Given the description of an element on the screen output the (x, y) to click on. 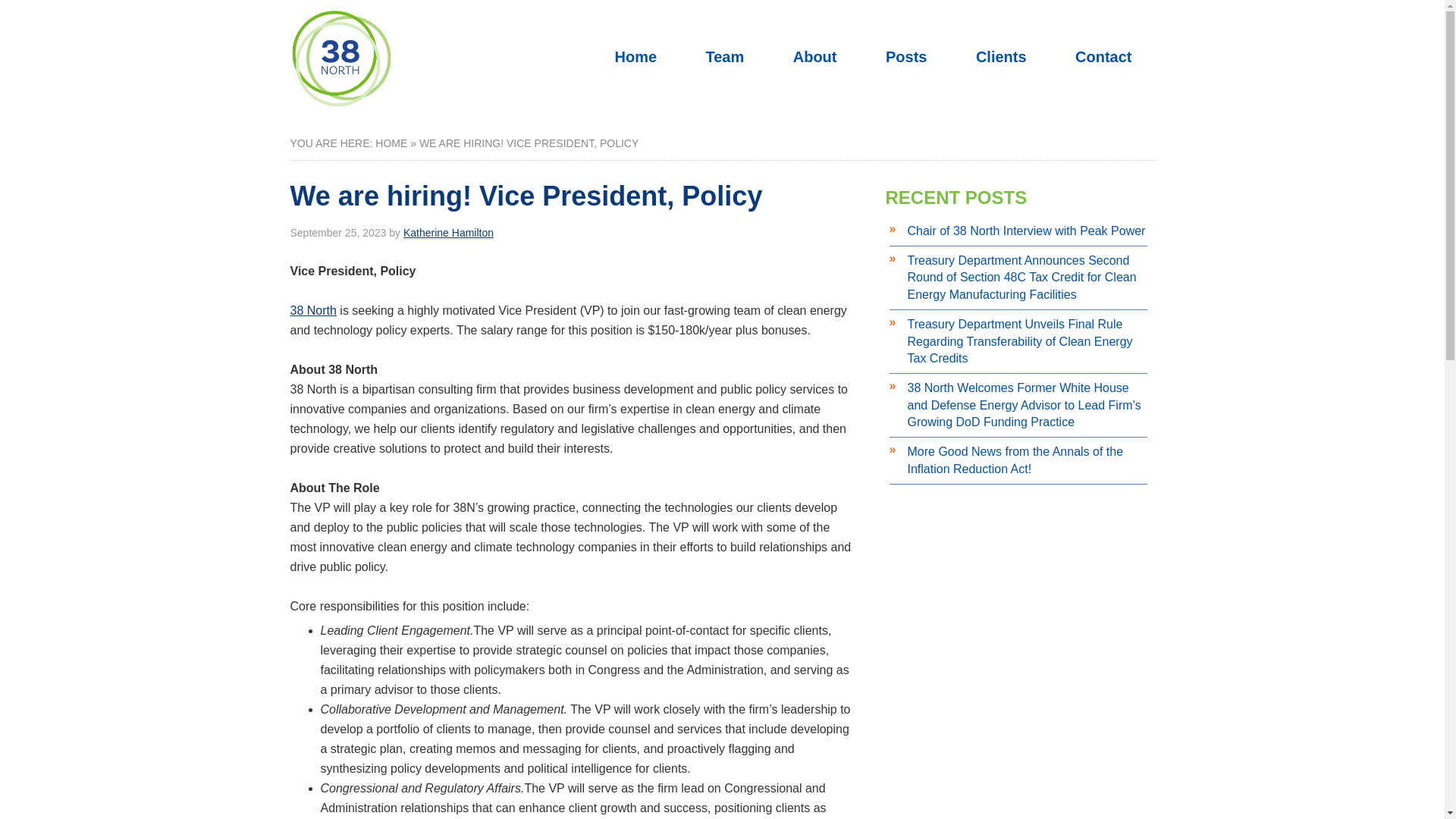
Posts (906, 56)
38 North Solutions (340, 101)
Clients (1001, 56)
Home (635, 56)
Chair of 38 North Interview with Peak Power (1025, 230)
Katherine Hamilton (448, 232)
Team (724, 56)
Contact (1103, 56)
About (815, 56)
